Given the description of an element on the screen output the (x, y) to click on. 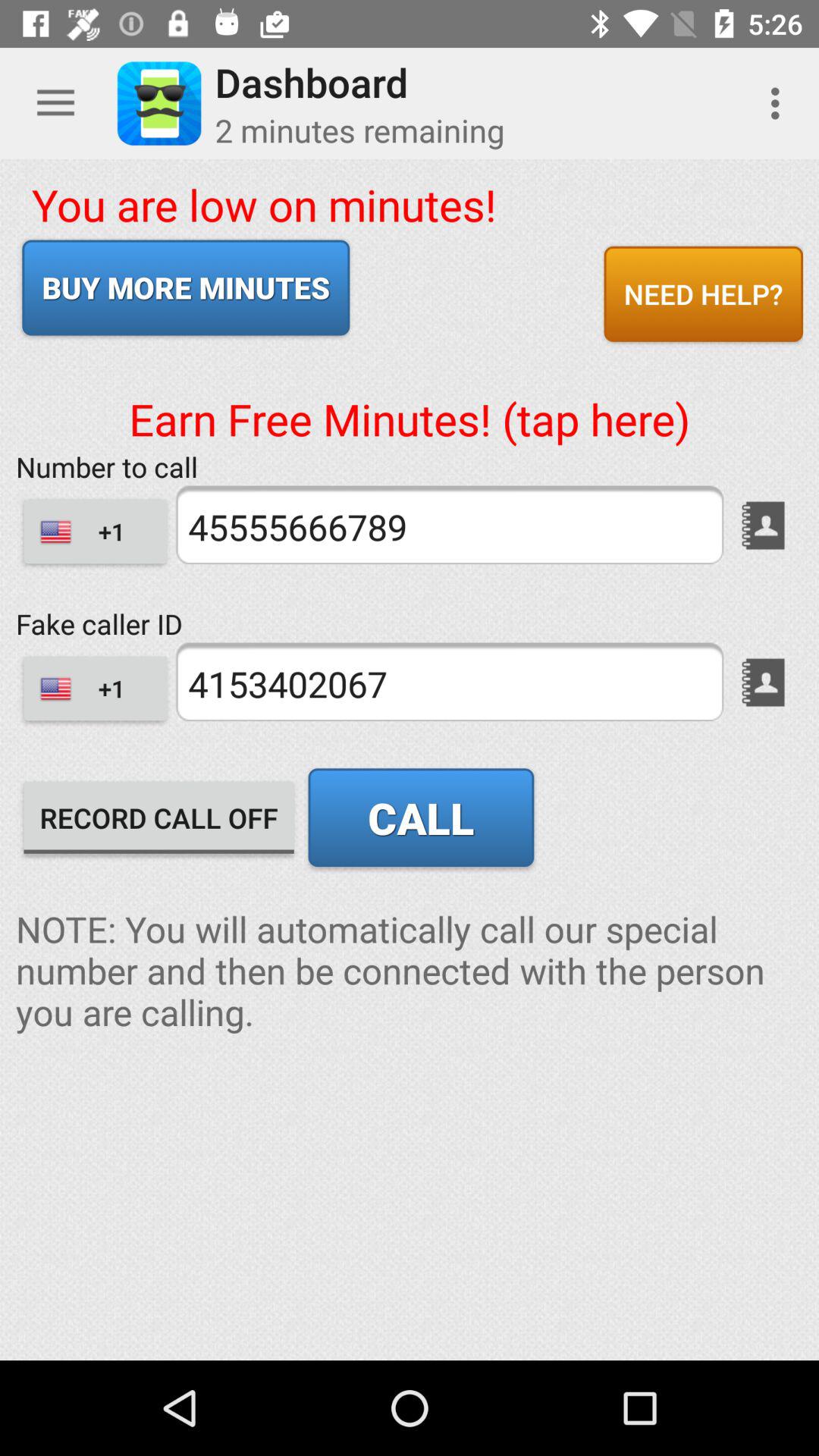
add a phone number from your address book (763, 682)
